Given the description of an element on the screen output the (x, y) to click on. 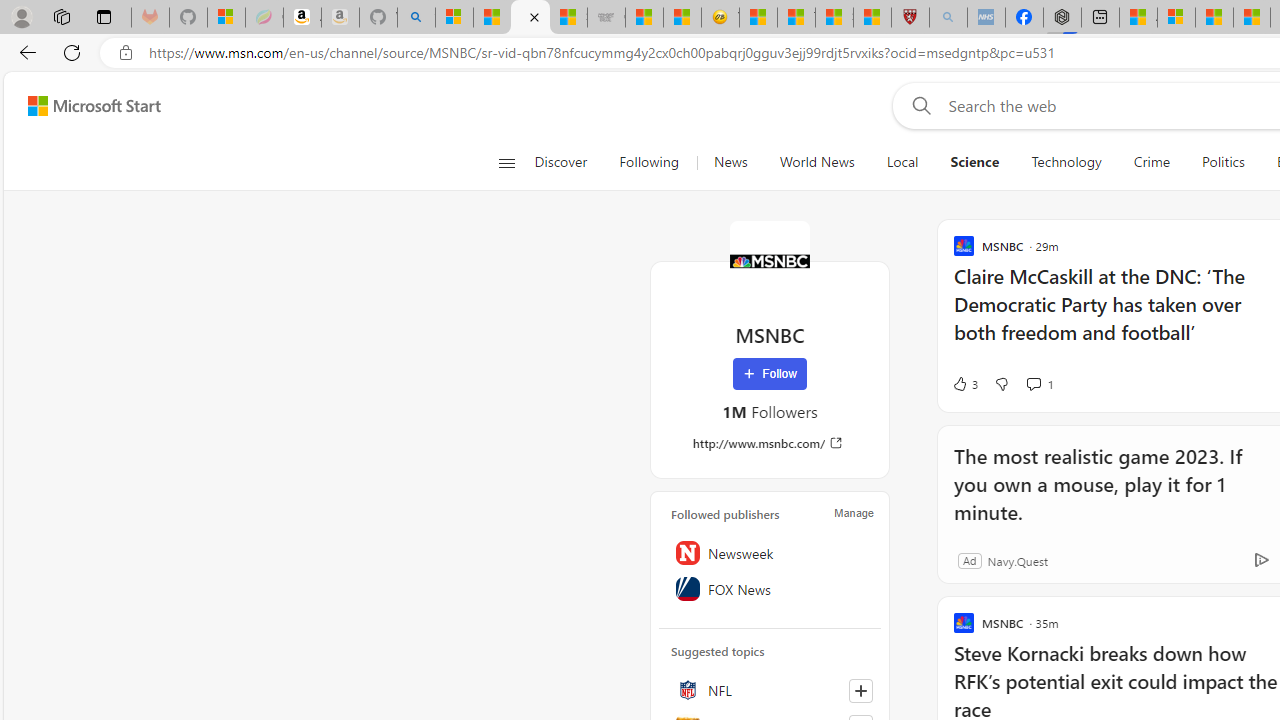
Crime (1151, 162)
Follow this topic (860, 690)
World News (817, 162)
3 Like (964, 384)
MSNBC (769, 260)
Nordace - Nordace Siena Is Not An Ordinary Backpack (1062, 17)
Follow this topic (860, 690)
Local (902, 162)
Combat Siege (605, 17)
